Given the description of an element on the screen output the (x, y) to click on. 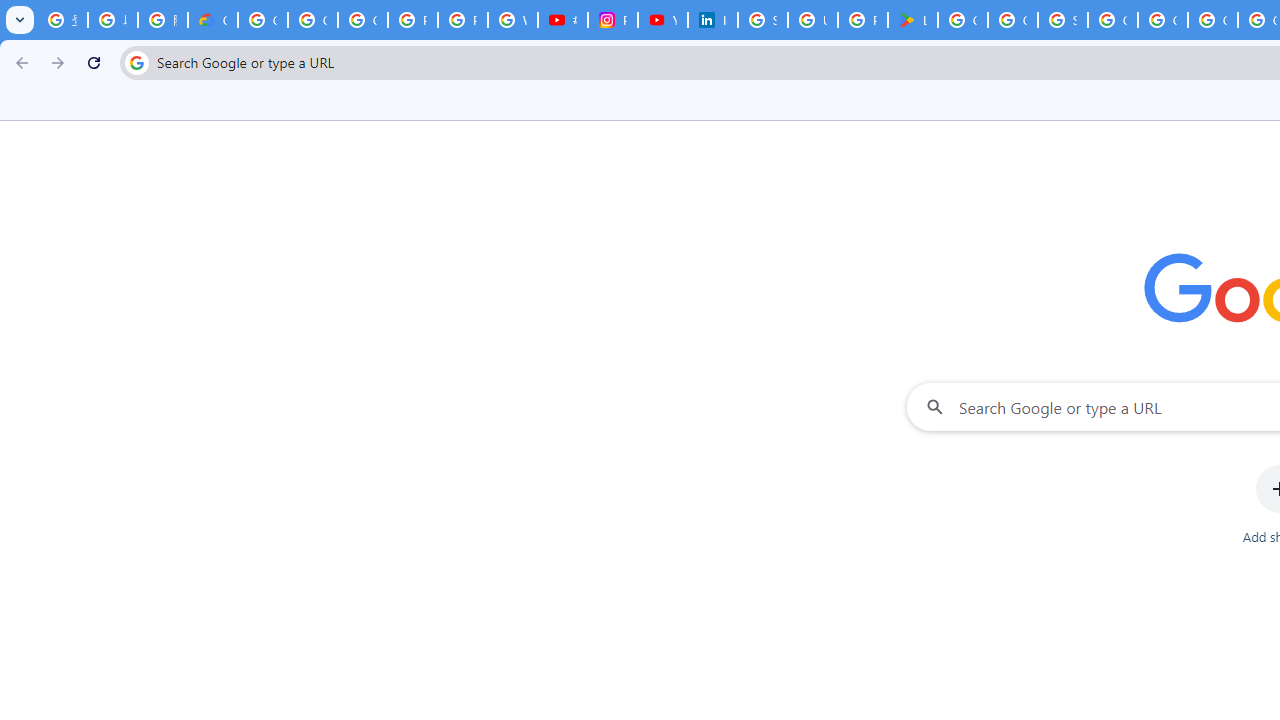
Last Shelter: Survival - Apps on Google Play (913, 20)
Google Workspace - Specific Terms (1013, 20)
Google Cloud Platform (1162, 20)
Sign in - Google Accounts (763, 20)
Privacy Help Center - Policies Help (462, 20)
